Given the description of an element on the screen output the (x, y) to click on. 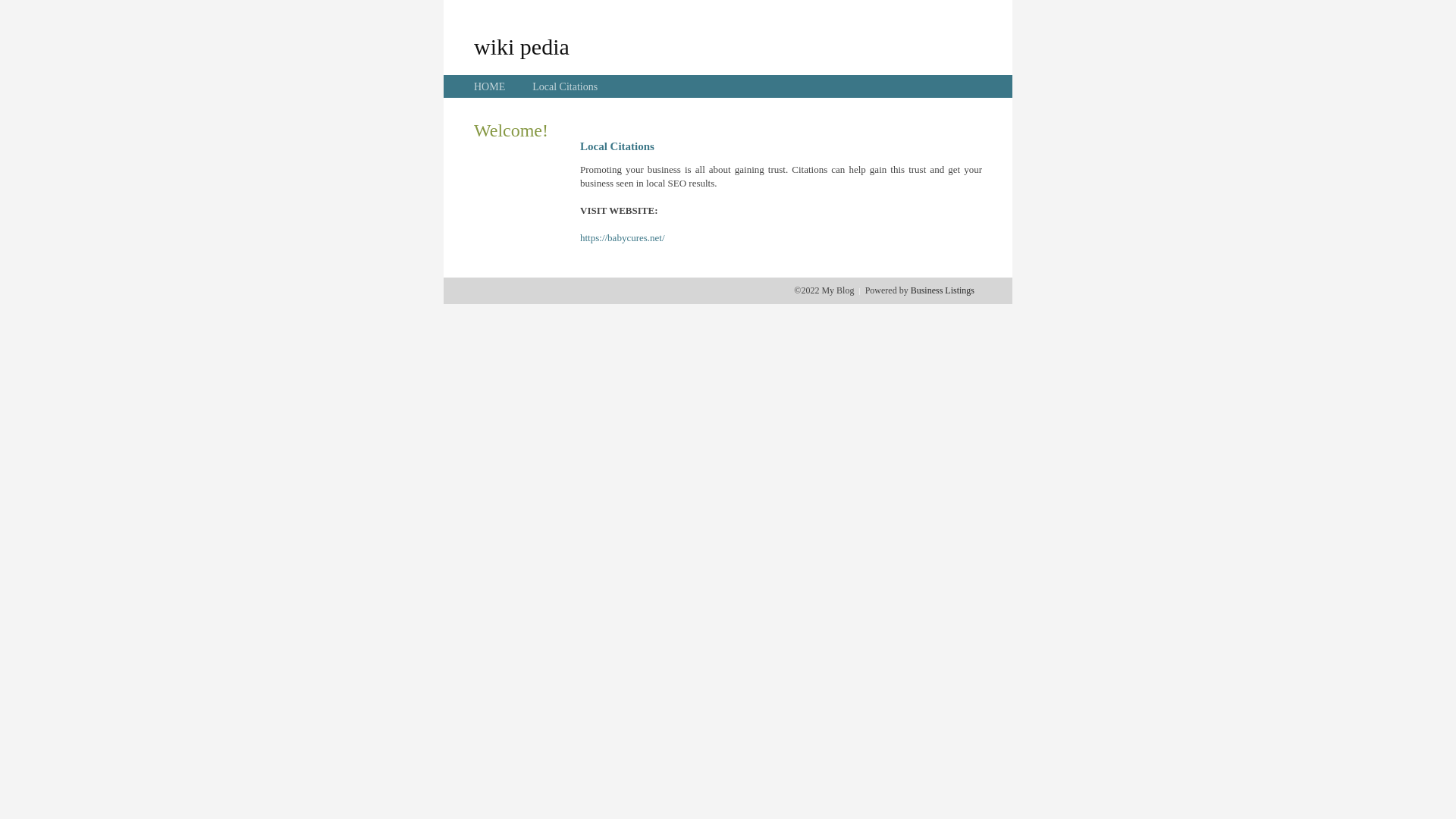
wiki pedia Element type: text (521, 46)
https://babycures.net/ Element type: text (622, 237)
HOME Element type: text (489, 86)
Local Citations Element type: text (564, 86)
Business Listings Element type: text (942, 290)
